Given the description of an element on the screen output the (x, y) to click on. 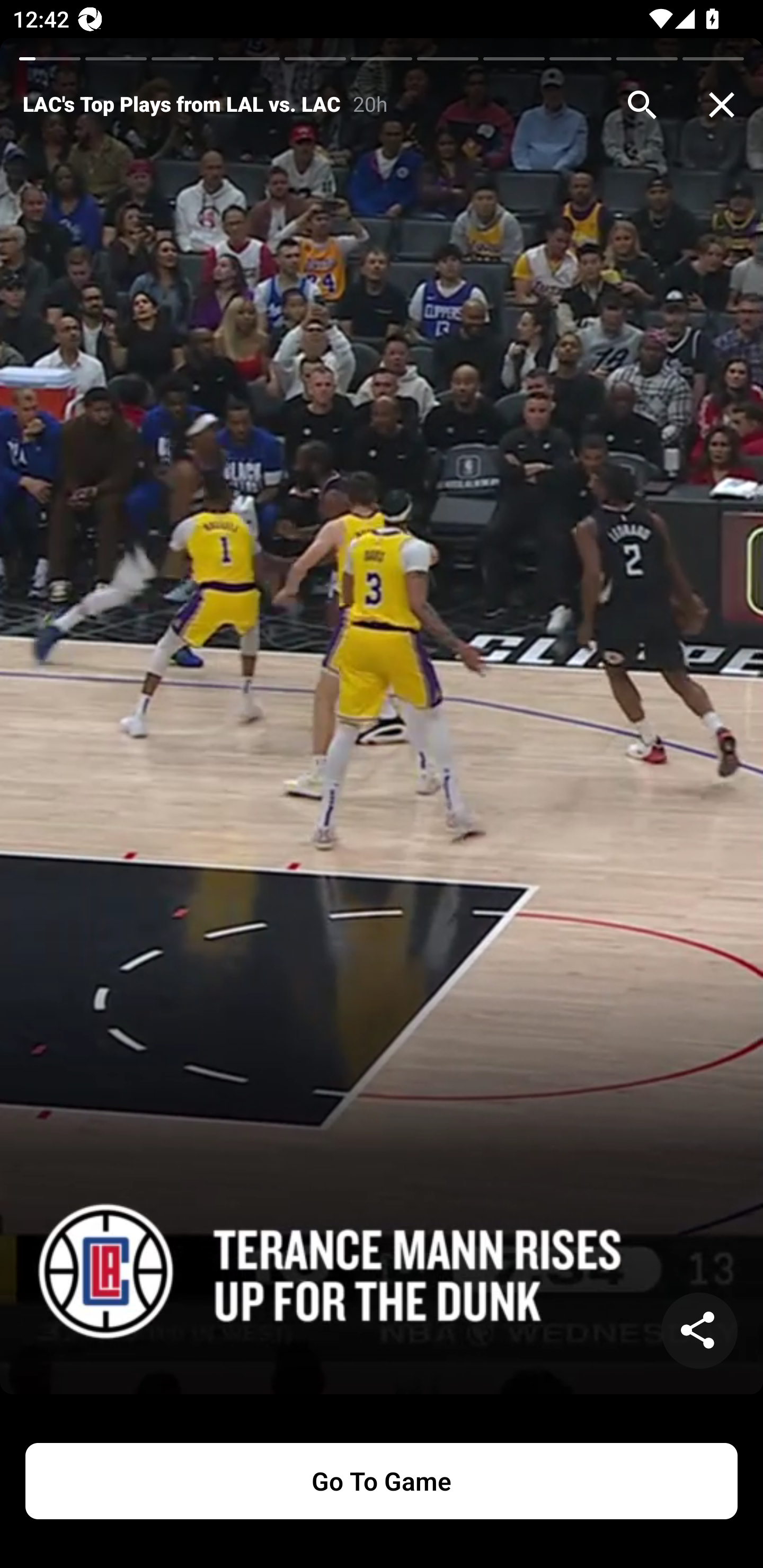
search (642, 104)
close (721, 104)
share (699, 1330)
Go To Game (381, 1480)
